Given the description of an element on the screen output the (x, y) to click on. 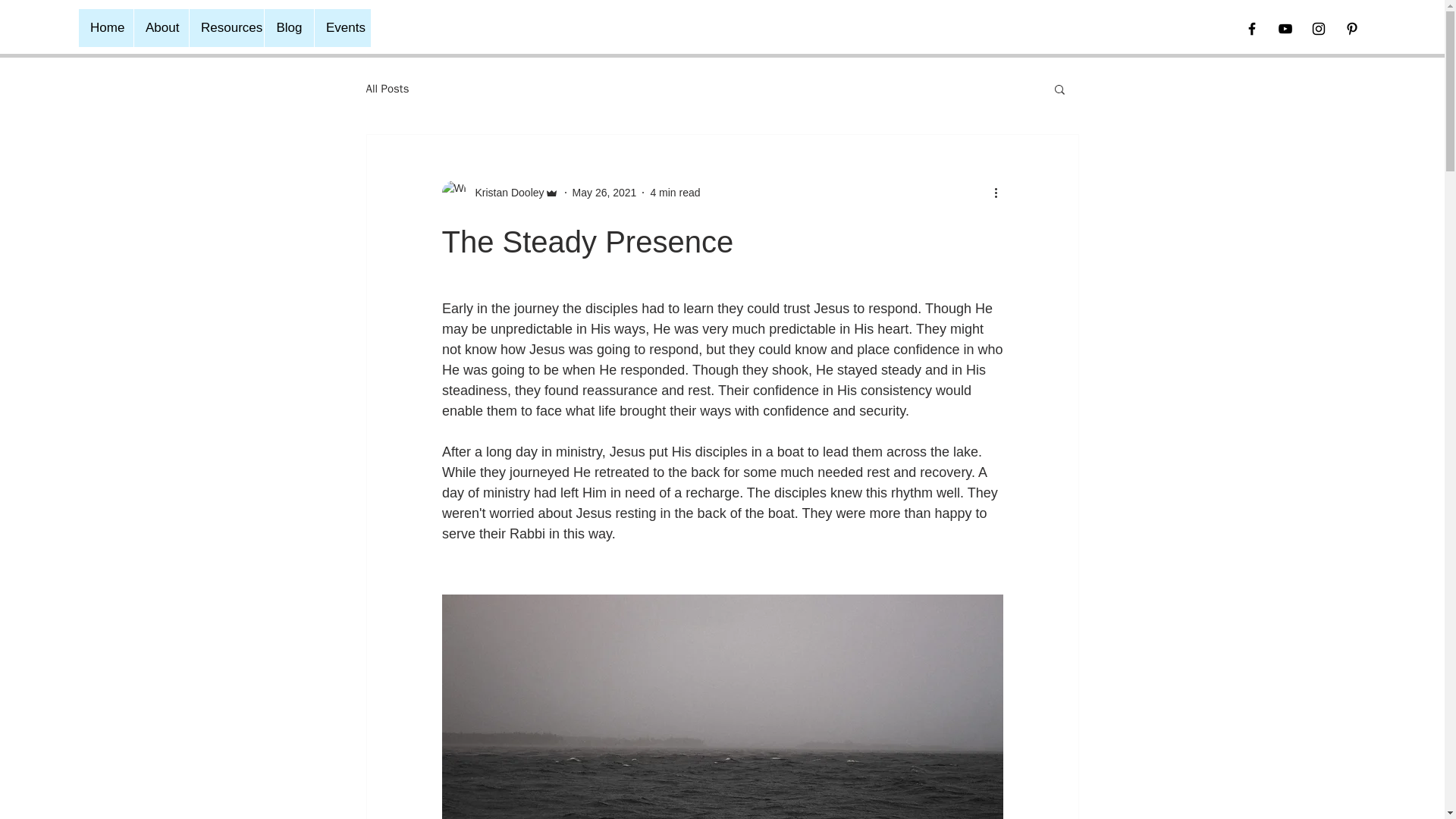
4 min read (674, 192)
May 26, 2021 (604, 192)
About (161, 27)
Kristan Dooley  (504, 192)
Blog (288, 27)
Resources (226, 27)
All Posts (387, 88)
Home (105, 27)
Kristan Dooley (499, 192)
Events (342, 27)
